Given the description of an element on the screen output the (x, y) to click on. 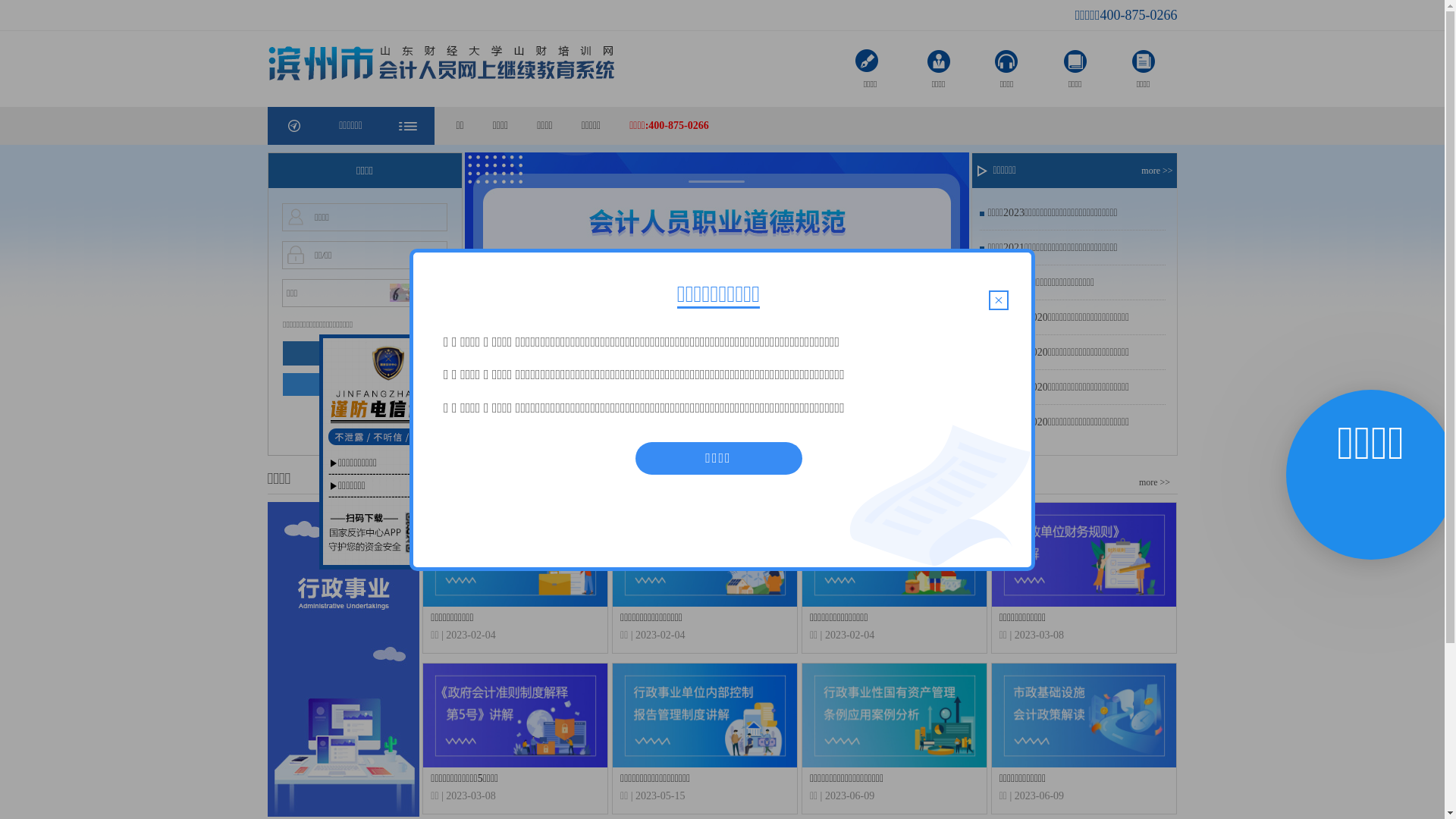
1 Element type: text (699, 438)
2 Element type: text (717, 438)
more >> Element type: text (1158, 170)
3 Element type: text (736, 438)
more >> Element type: text (1153, 482)
